Given the description of an element on the screen output the (x, y) to click on. 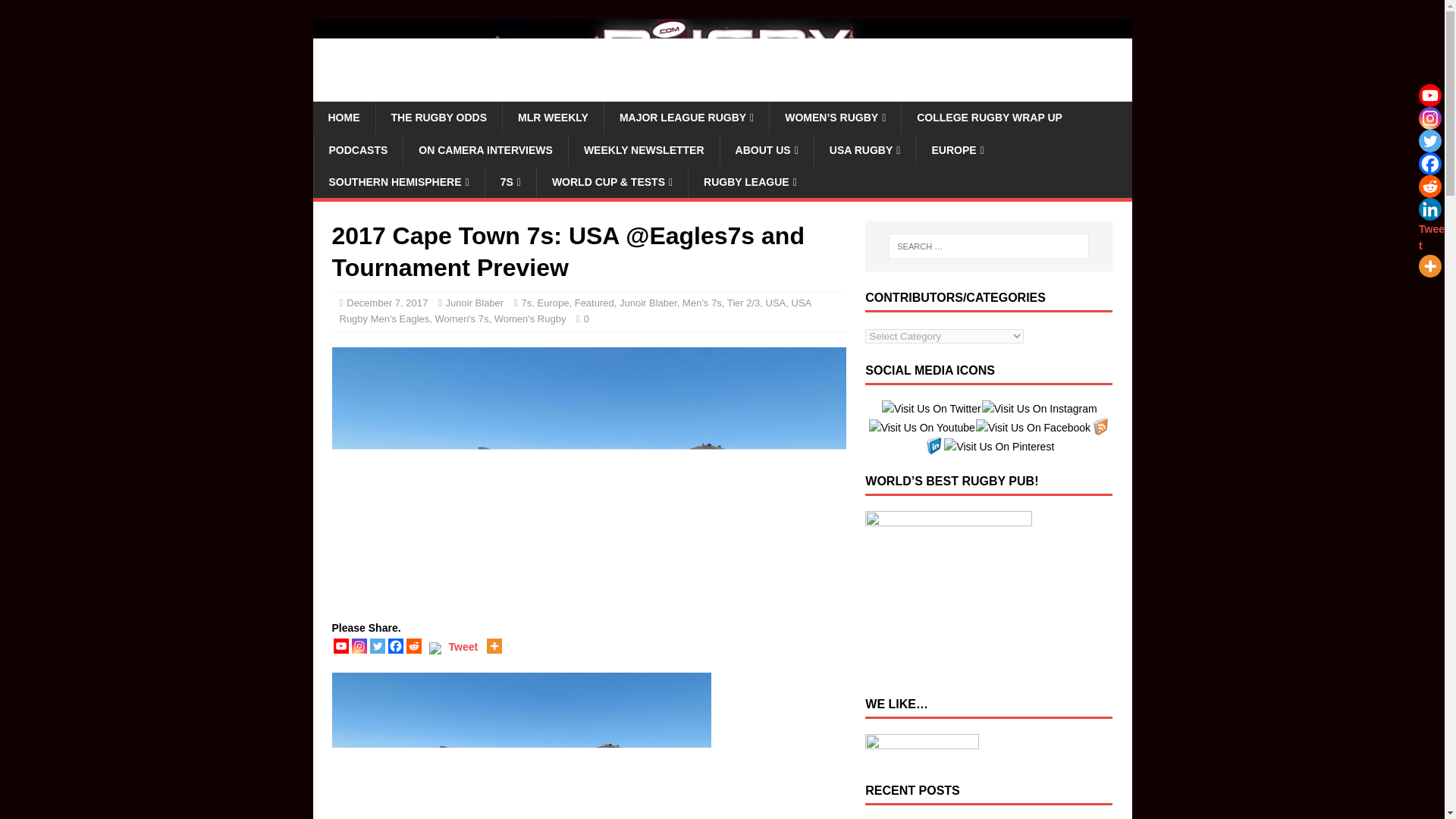
ON CAMERA INTERVIEWS (485, 149)
THE RUGBY ODDS (438, 117)
Reddit (1429, 186)
COLLEGE RUGBY WRAP UP (989, 117)
USA RUGBY (864, 149)
Twitter (1429, 140)
MLR WEEKLY (553, 117)
EUROPE (956, 149)
Rugby Wrap Up (722, 92)
More (494, 645)
Facebook (1429, 163)
More (1429, 265)
HOME (343, 117)
SOUTHERN HEMISPHERE (398, 182)
December 7, 2017 (387, 302)
